Given the description of an element on the screen output the (x, y) to click on. 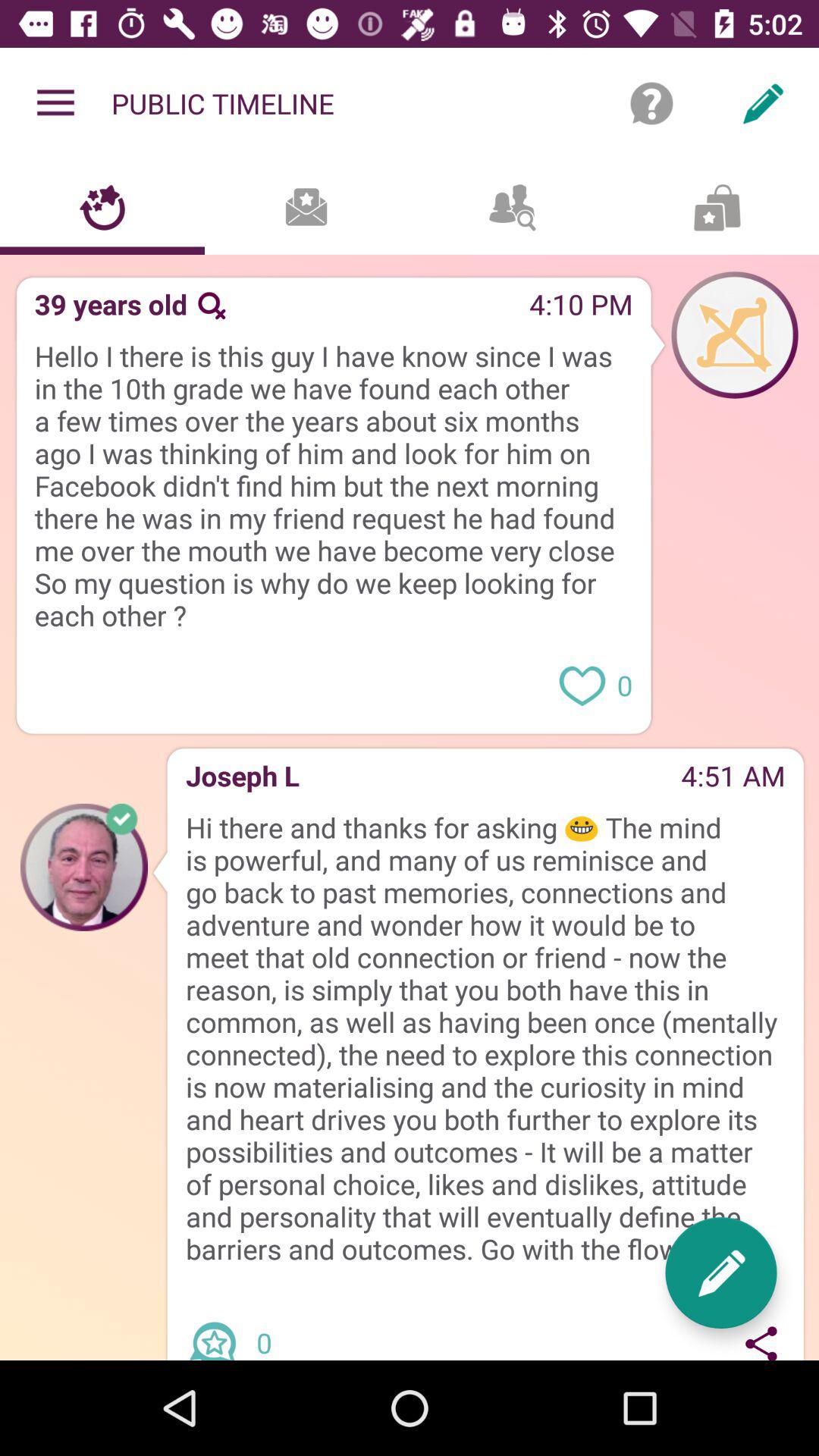
author of the comment (83, 867)
